Given the description of an element on the screen output the (x, y) to click on. 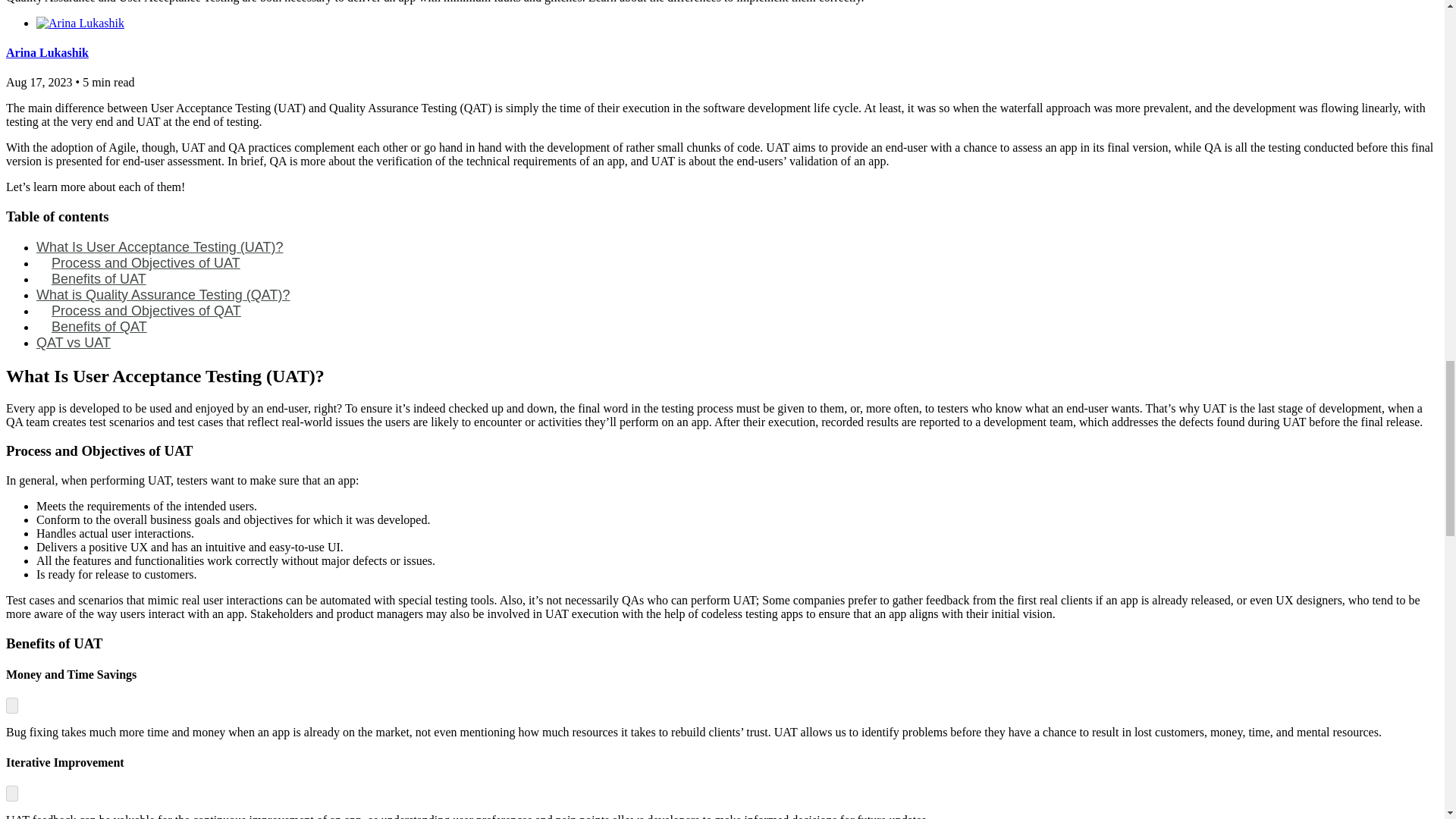
Process and Objectives of UAT (145, 263)
Benefits of QAT (98, 326)
Benefits of UAT (98, 278)
Process and Objectives of QAT (145, 310)
QAT vs UAT (73, 342)
Arina Lukashik (46, 51)
